Given the description of an element on the screen output the (x, y) to click on. 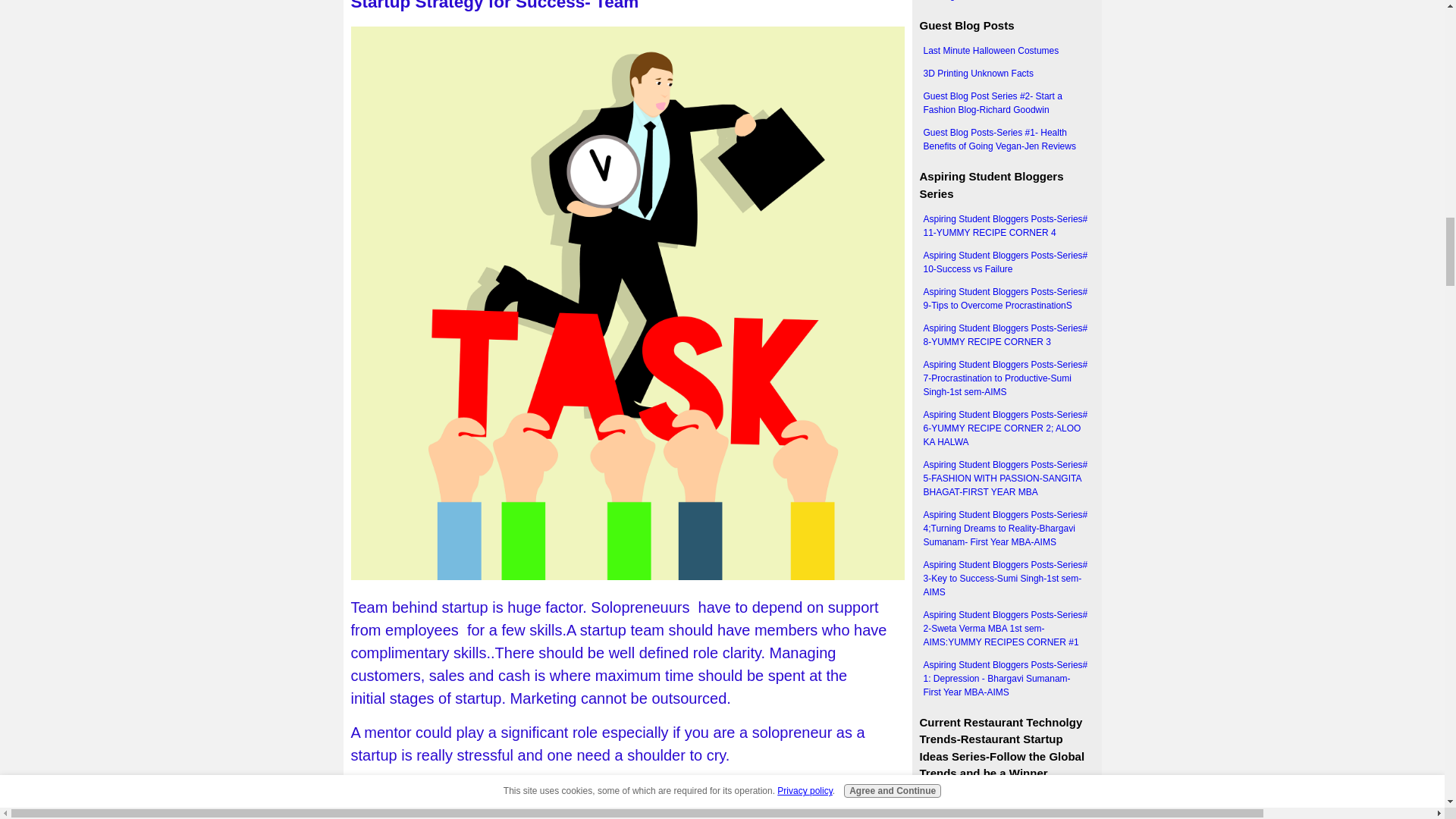
3D Printing Unknown Facts (1005, 73)
Last Minute Halloween Costumes (1005, 50)
